Given the description of an element on the screen output the (x, y) to click on. 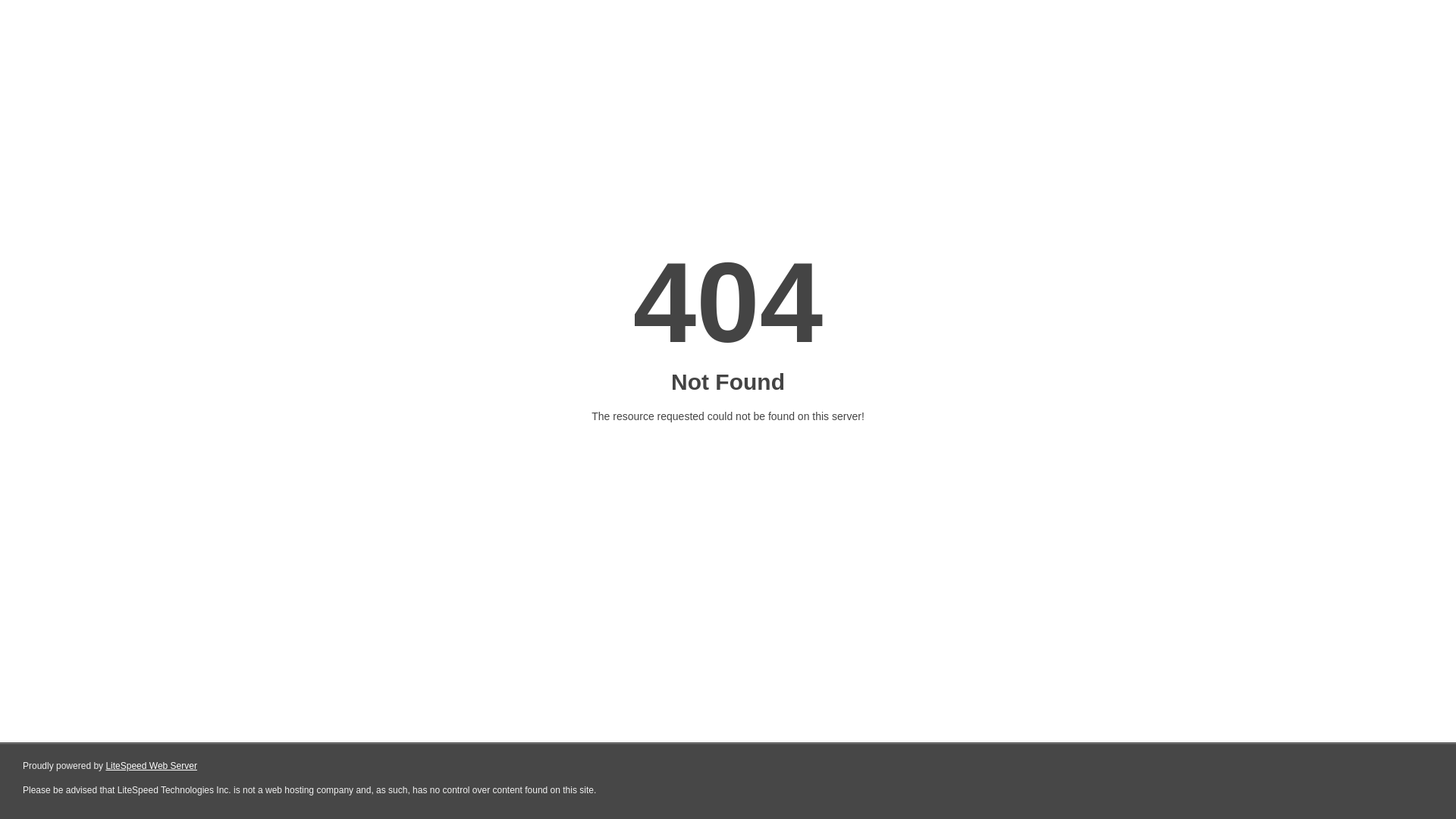
LiteSpeed Web Server Element type: text (151, 765)
